Given the description of an element on the screen output the (x, y) to click on. 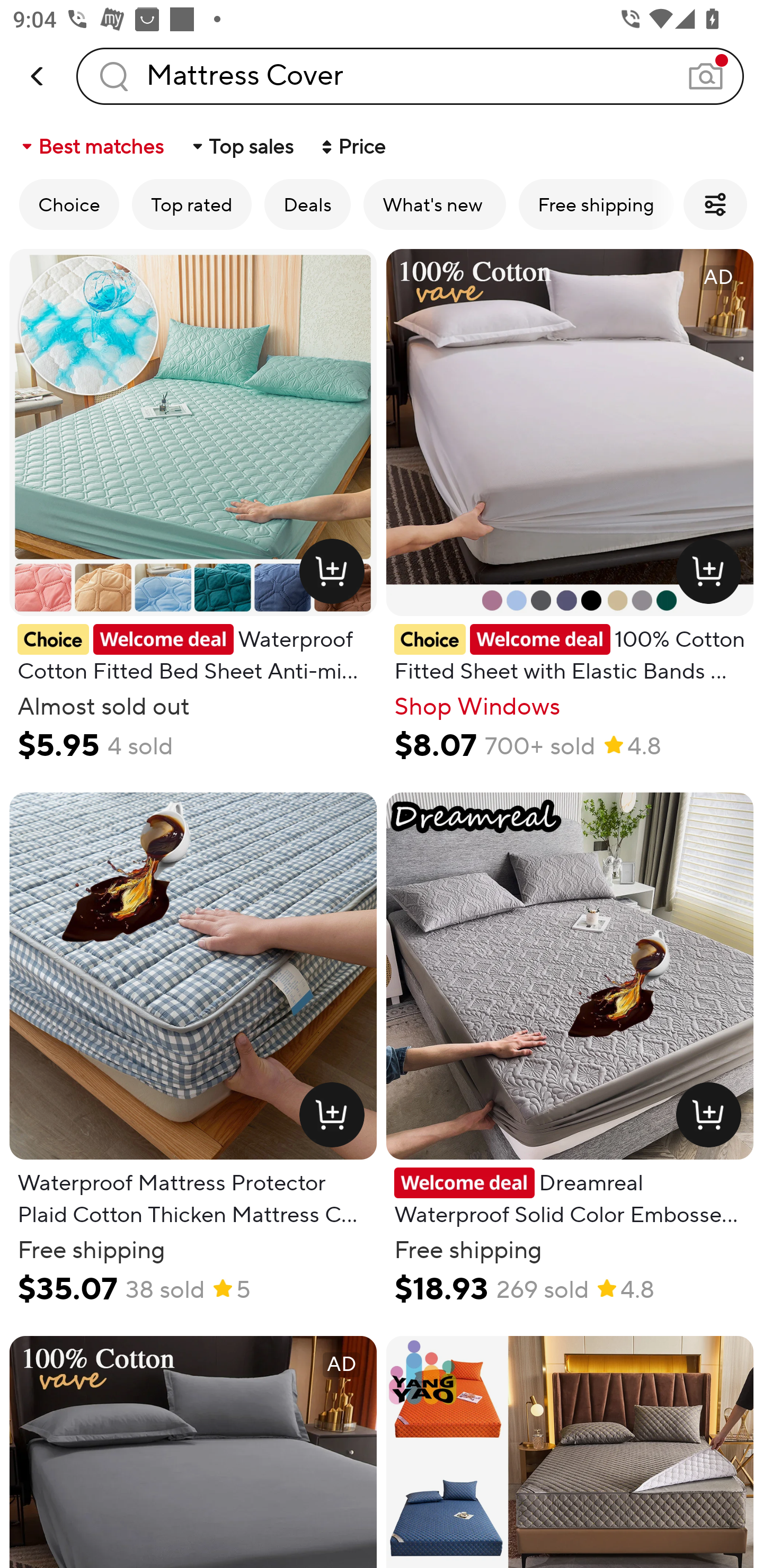
back (38, 75)
Mattress Cover Search query (409, 76)
Mattress Cover Search query (409, 76)
Best matches (91, 146)
Top sales (241, 146)
Price (352, 146)
Choice (69, 204)
Top rated (191, 204)
Deals (307, 204)
What's new  (434, 204)
Free shipping (595, 204)
